Given the description of an element on the screen output the (x, y) to click on. 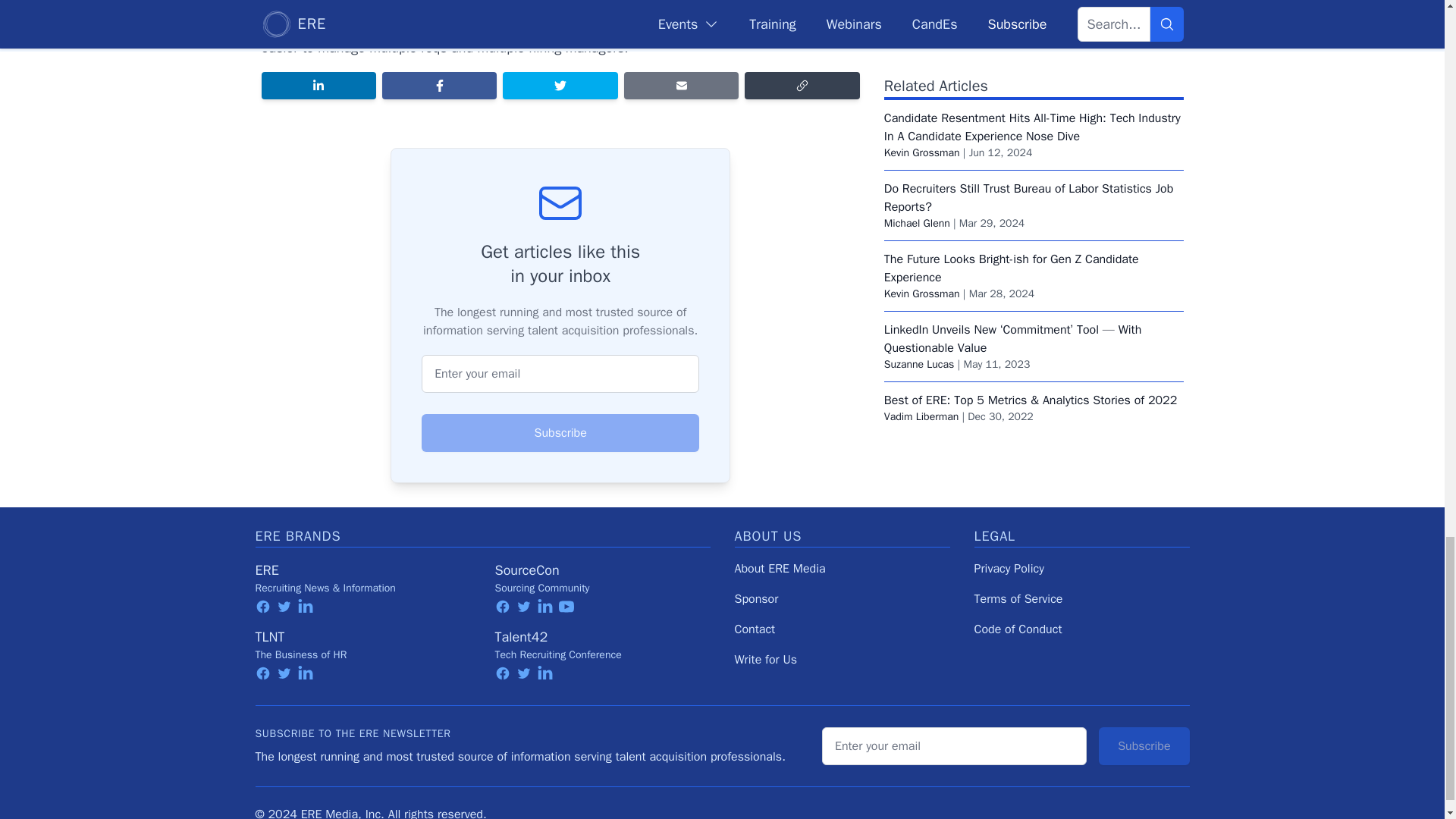
ERE (266, 569)
Kevin Grossman (921, 51)
Michael Glenn (916, 122)
The Future Looks Bright-ish for Gen Z Candidate Experience (1010, 167)
twitter (283, 606)
Kevin Grossman (921, 192)
TLNT (268, 636)
Suzanne Lucas (919, 263)
linkedin (305, 606)
Subscribe (560, 433)
facebook (261, 606)
Vadim Liberman (920, 315)
